Given the description of an element on the screen output the (x, y) to click on. 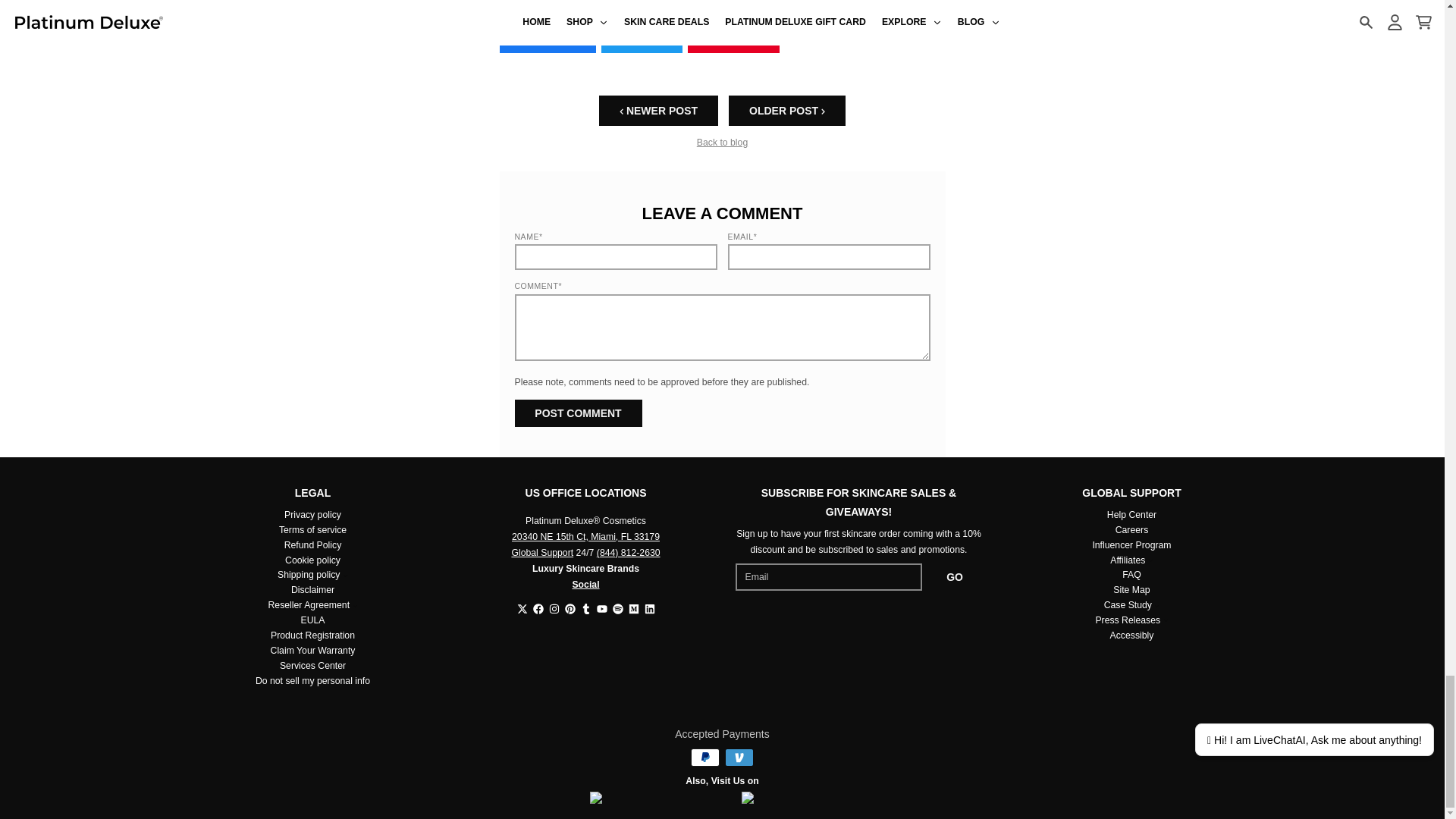
Post comment (577, 412)
Medium - Platinum Deluxe Cosmetics (633, 608)
Spotify - Platinum Deluxe Cosmetics (617, 608)
Facebook - Platinum Deluxe Cosmetics (537, 608)
Pinterest - Platinum Deluxe Cosmetics (569, 608)
Twitter - Platinum Deluxe Cosmetics (521, 608)
YouTube - Platinum Deluxe Cosmetics (601, 608)
Tumblr - Platinum Deluxe Cosmetics (585, 608)
Instagram - Platinum Deluxe Cosmetics (553, 608)
LinkedIn - Platinum Deluxe Cosmetics (650, 608)
